Given the description of an element on the screen output the (x, y) to click on. 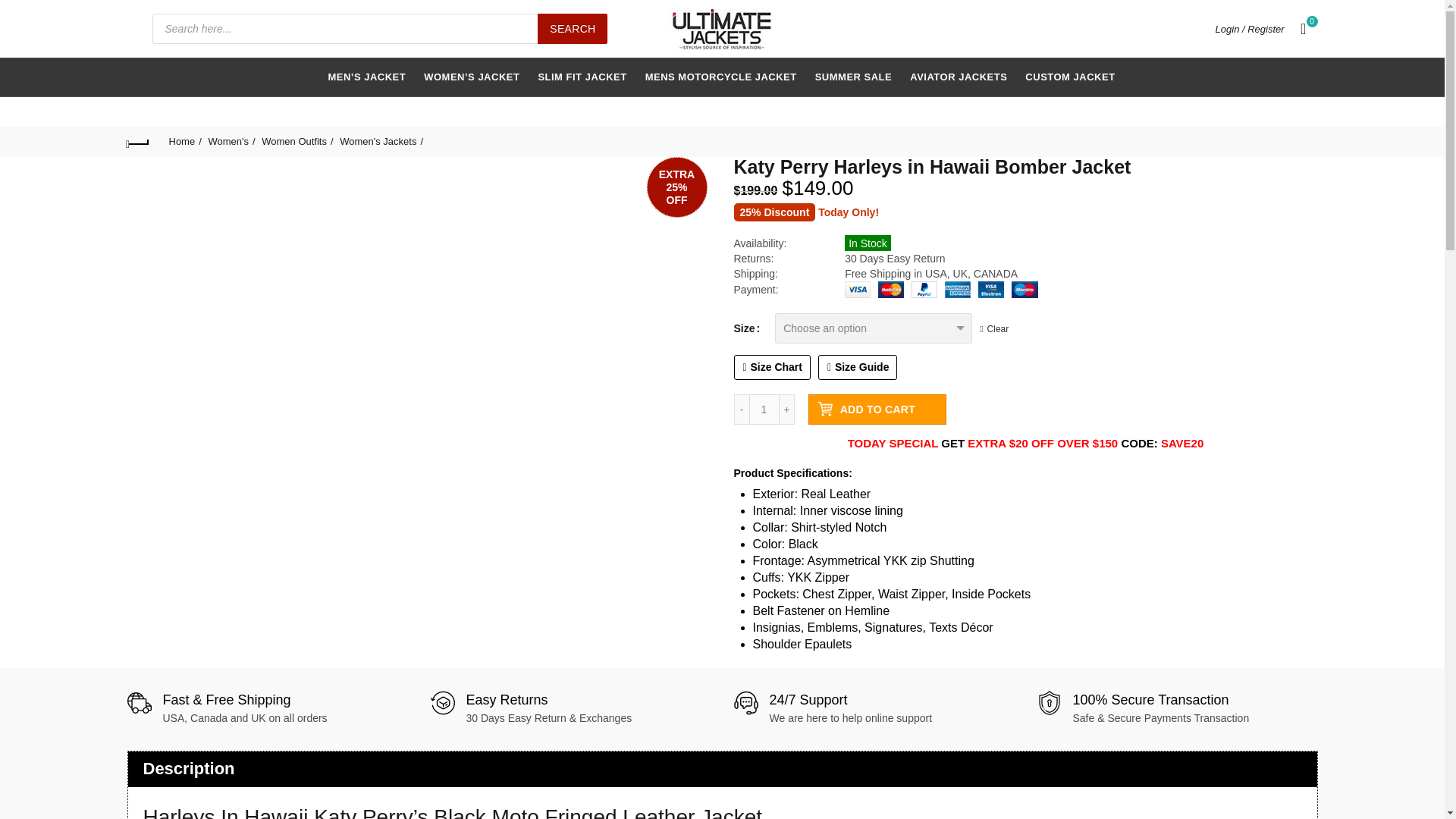
Women Outfits (297, 141)
ADD TO CART (877, 409)
Women's (231, 141)
Women's Jackets (381, 141)
1 (763, 409)
AVIATOR JACKETS (957, 77)
Home (184, 141)
SEARCH (572, 28)
MENS MOTORCYCLE JACKET (720, 77)
SUMMER SALE (853, 77)
Size Guide (858, 367)
Qty (763, 409)
Clear (994, 328)
Back (138, 141)
0 (1304, 28)
